Given the description of an element on the screen output the (x, y) to click on. 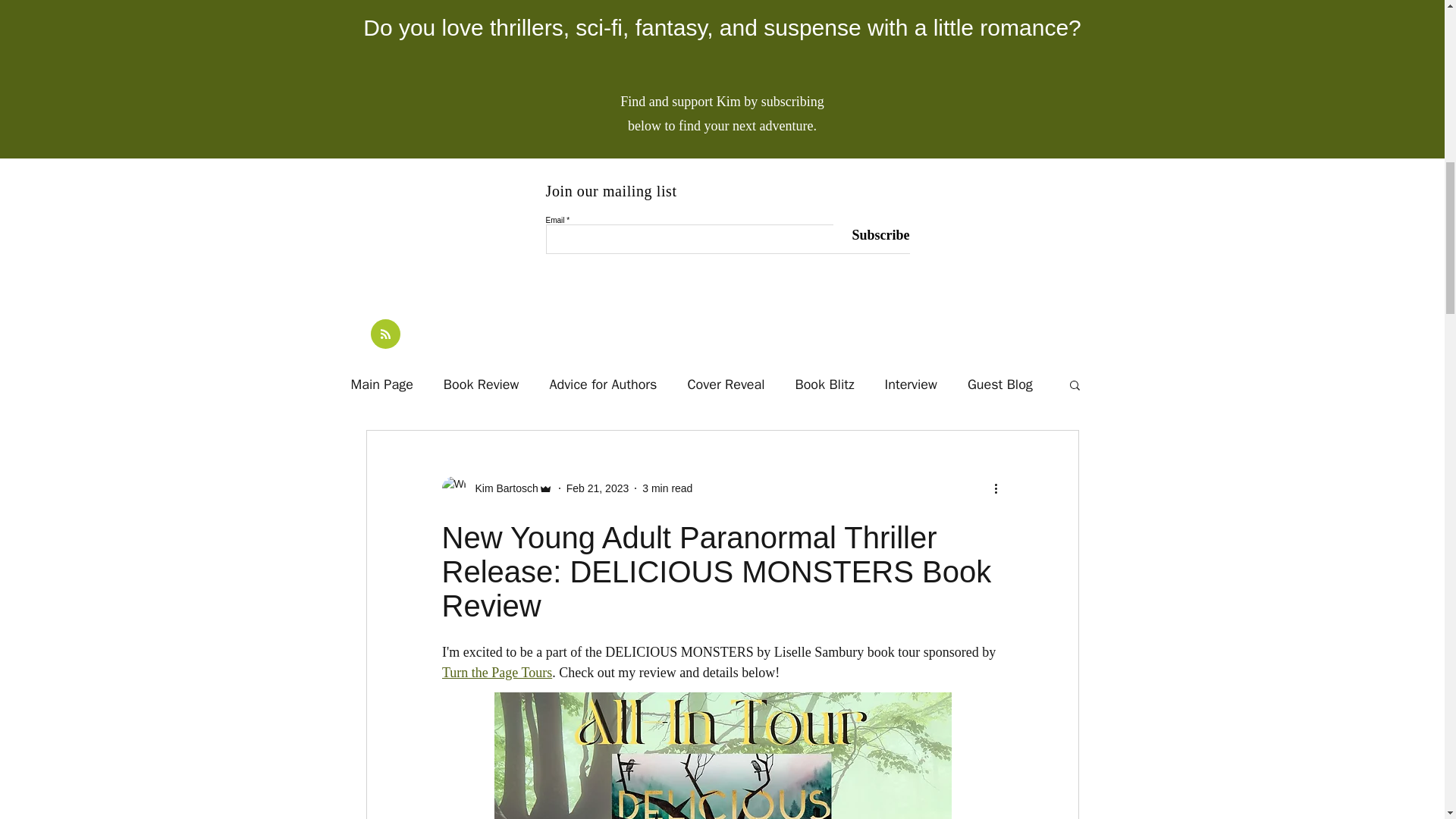
Main Page (381, 384)
Subscribe (870, 235)
Turn the Page Tours (496, 672)
Feb 21, 2023 (597, 488)
Cover Reveal (725, 384)
Interview (911, 384)
Kim Bartosch (501, 488)
Kim Bartosch (496, 487)
Book Blitz (824, 384)
Advice for Authors (602, 384)
